Given the description of an element on the screen output the (x, y) to click on. 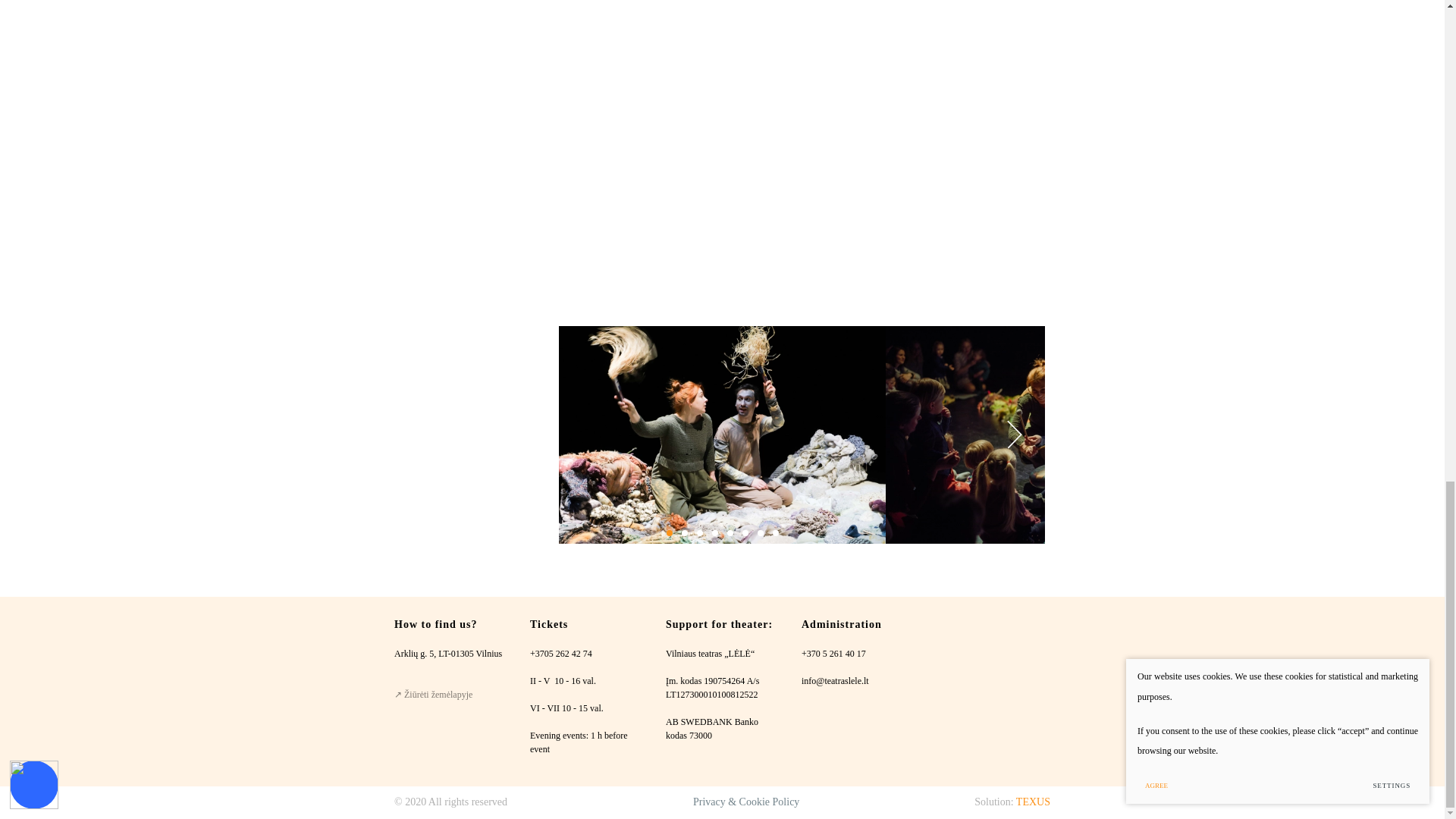
Texus (1032, 801)
